Given the description of an element on the screen output the (x, y) to click on. 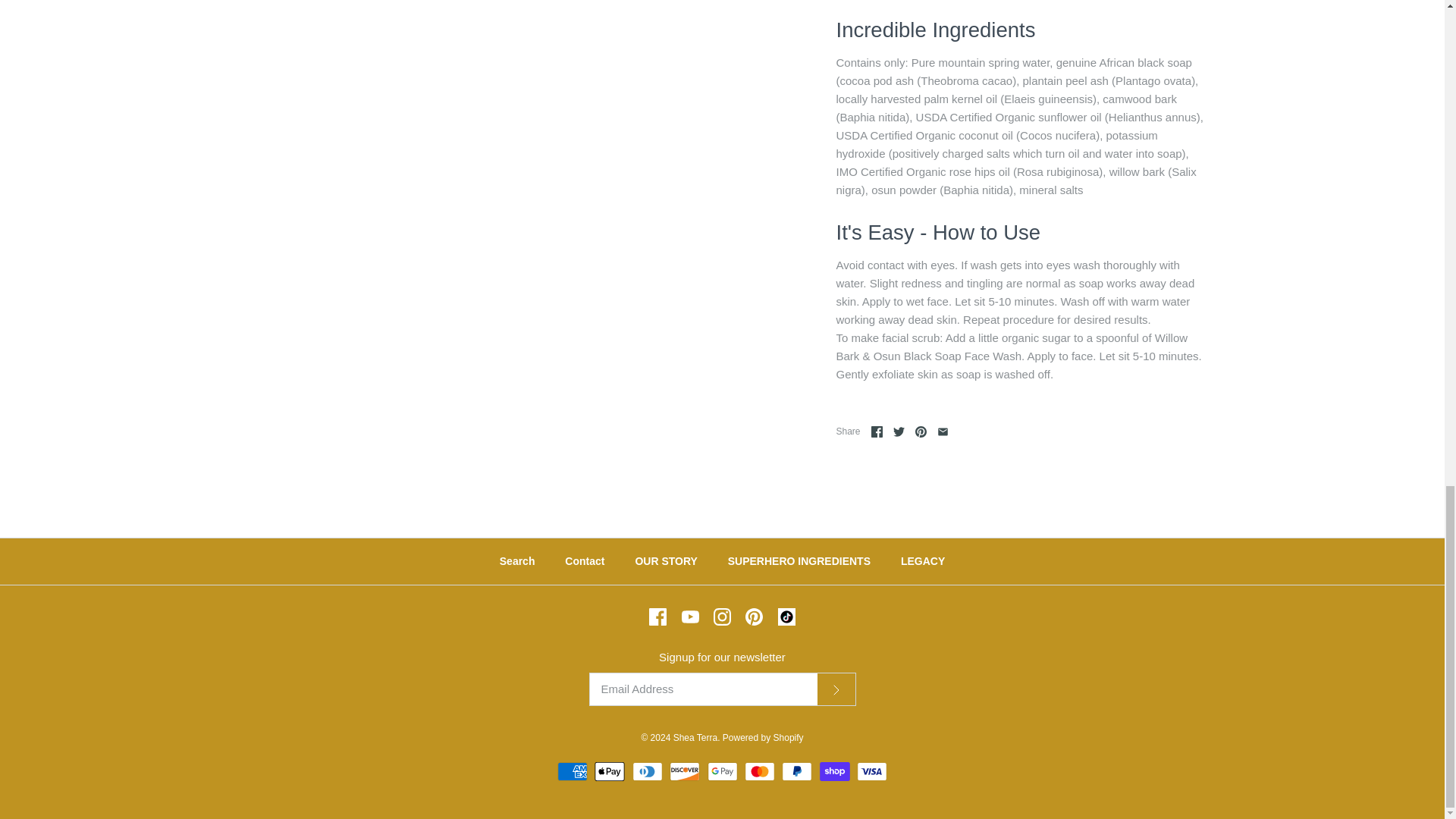
Diners Club (646, 771)
Facebook (657, 616)
Pinterest (753, 616)
Share on Facebook (876, 431)
Share using email (943, 431)
Youtube (689, 616)
Facebook (876, 431)
Instagram (721, 616)
Pinterest (920, 431)
Discover (684, 771)
Share on Twitter (898, 431)
Pin the main image (920, 431)
Google Pay (721, 771)
American Express (572, 771)
Twitter (898, 431)
